Given the description of an element on the screen output the (x, y) to click on. 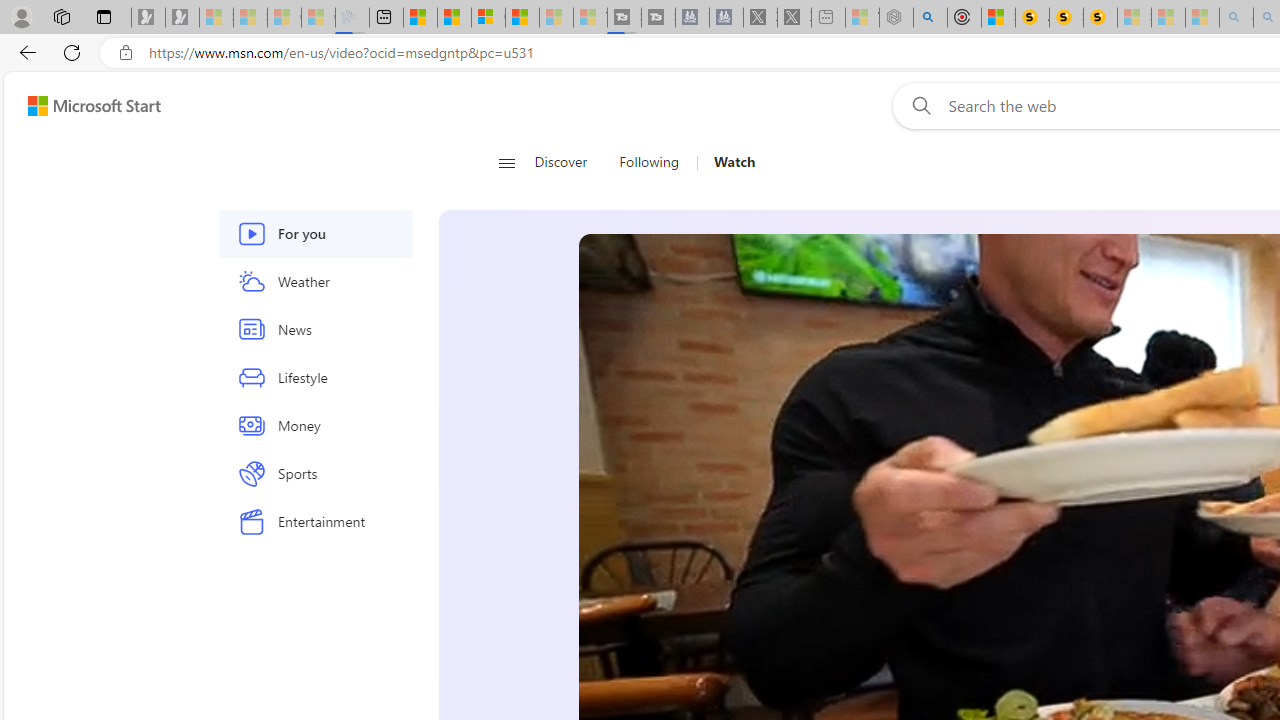
Watch (734, 162)
Overview (488, 17)
Discover (560, 162)
Microsoft Start - Sleeping (556, 17)
Skip to footer (82, 105)
Michelle Starr, Senior Journalist at ScienceAlert (1100, 17)
Newsletter Sign Up - Sleeping (182, 17)
